Given the description of an element on the screen output the (x, y) to click on. 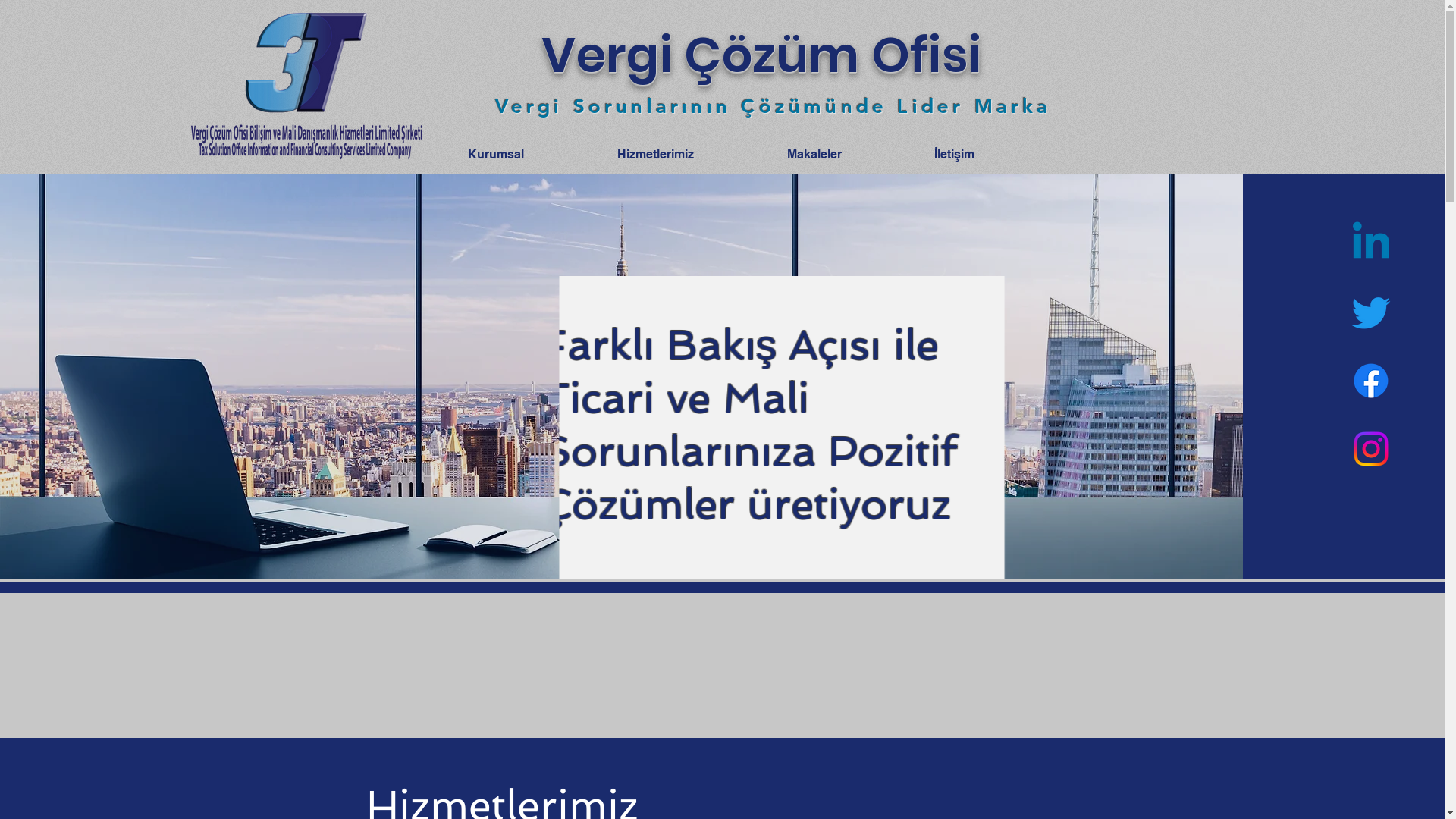
Makaleler Element type: text (848, 154)
Hizmetlerimiz Element type: text (690, 154)
Kurumsal Element type: text (530, 154)
